Given the description of an element on the screen output the (x, y) to click on. 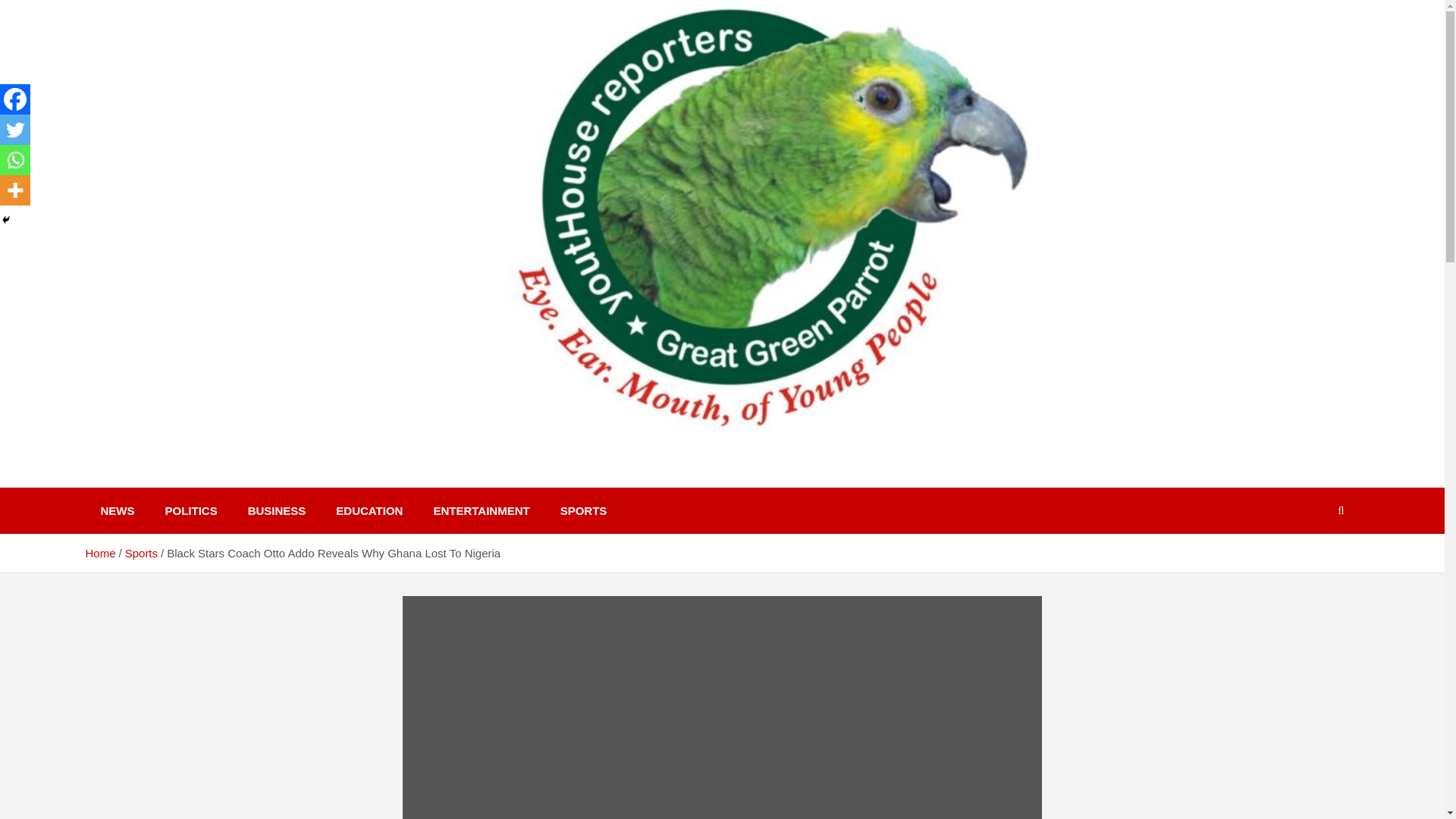
Twitter (15, 129)
SPORTS (583, 510)
More (15, 190)
ENTERTAINMENT (480, 510)
Sports (141, 553)
BUSINESS (276, 510)
EDUCATION (368, 510)
Facebook (15, 99)
Whatsapp (15, 159)
NEWS (116, 510)
POLITICS (190, 510)
Home (99, 553)
Hide (5, 219)
youtHouse reporters (233, 480)
